Given the description of an element on the screen output the (x, y) to click on. 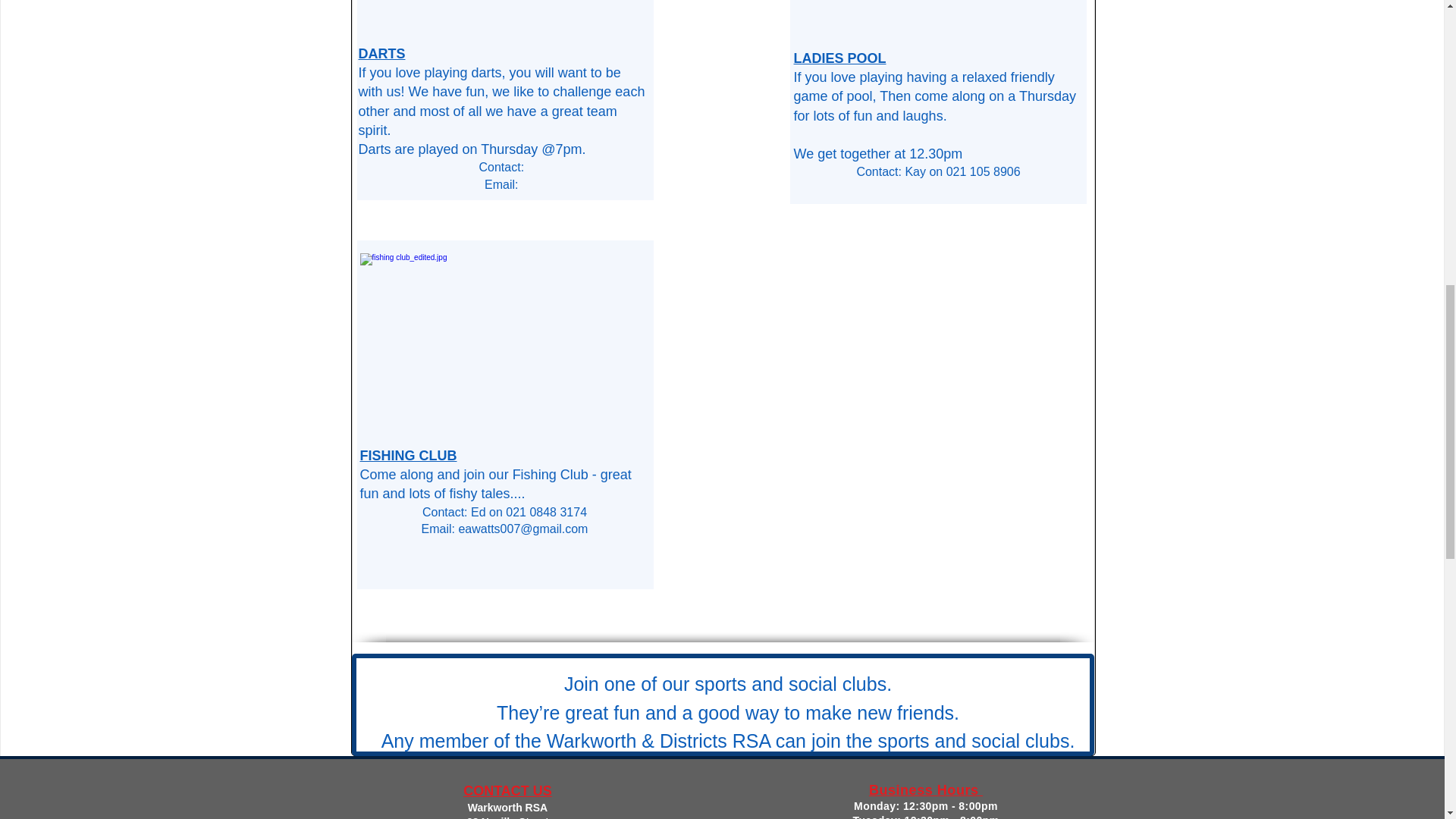
DARTS (381, 53)
LADIES POOL (839, 58)
FISHING CLUB (408, 455)
